Given the description of an element on the screen output the (x, y) to click on. 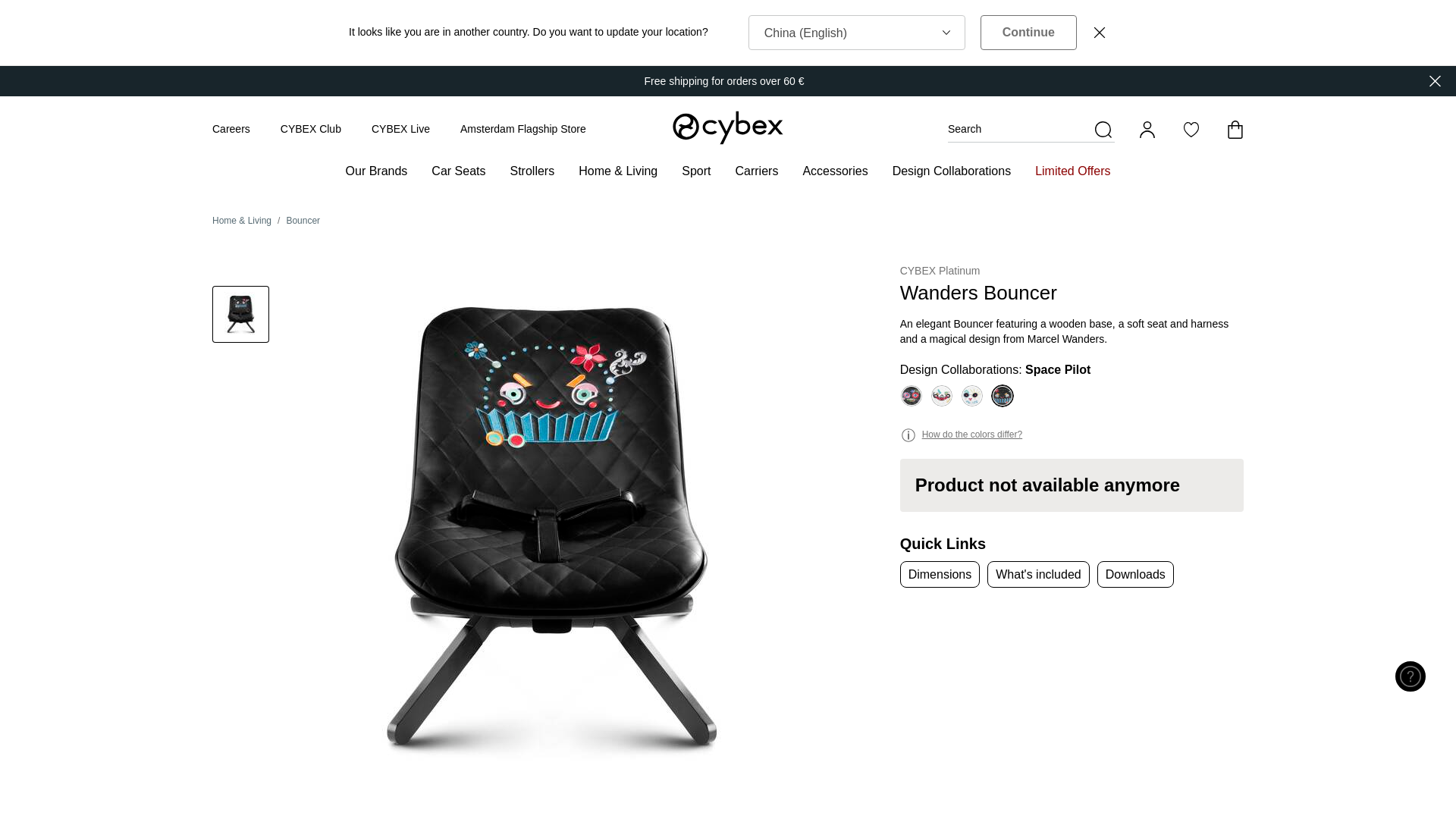
Search (1031, 129)
Continue (1028, 32)
CYBEX Club (310, 128)
Our Brands (376, 168)
Careers (231, 128)
Car Seats (457, 168)
CYBEX Live (400, 128)
Home (727, 127)
Close (1099, 32)
Wish List (1190, 128)
Amsterdam Flagship Store (523, 128)
View Cart (1235, 128)
